Given the description of an element on the screen output the (x, y) to click on. 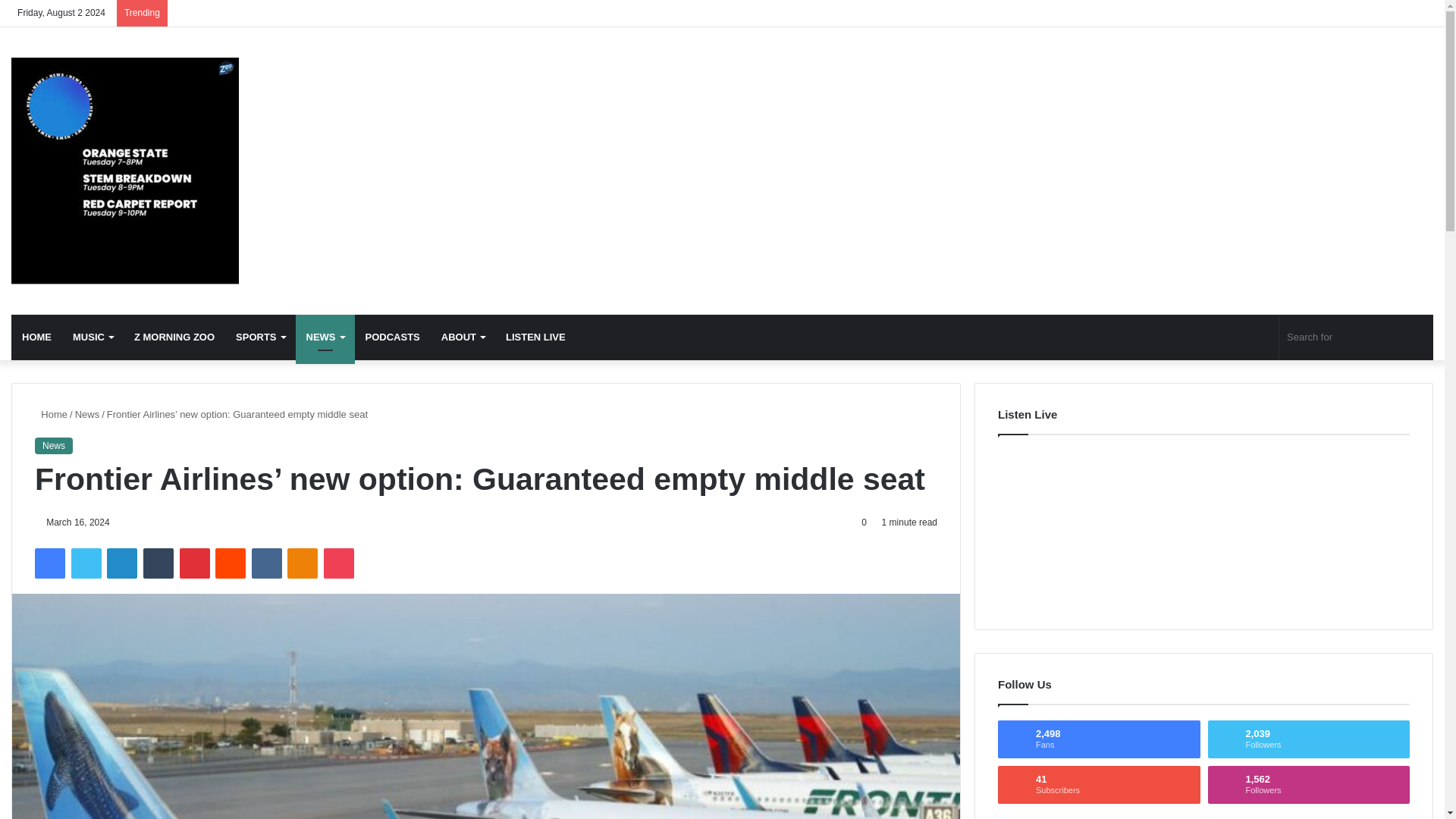
Z MORNING ZOO (174, 337)
Reddit (230, 562)
NEWS (325, 337)
News (124, 170)
Twitter (86, 562)
Pinterest (194, 562)
Odnoklassniki (301, 562)
Facebook (49, 562)
LinkedIn (121, 562)
MUSIC (92, 337)
